Given the description of an element on the screen output the (x, y) to click on. 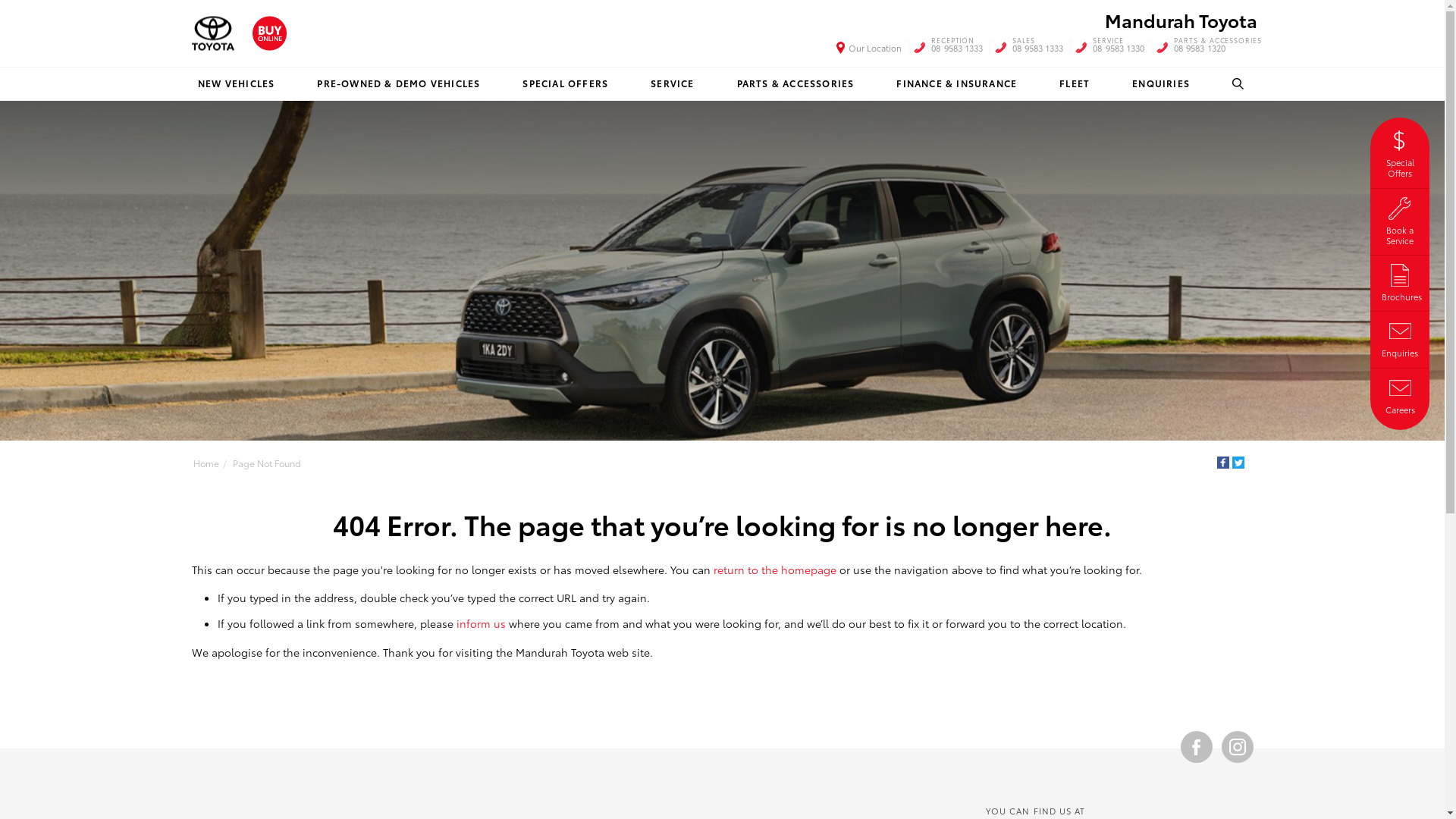
Careers Element type: text (1399, 393)
SEARCH Element type: text (1239, 83)
PARTS & ACCESSORIES
08 9583 1320 Element type: text (1217, 47)
SERVICE Element type: text (672, 83)
Twitter Element type: hover (1237, 462)
Book a Service Element type: text (1399, 219)
PRE-OWNED & DEMO VEHICLES Element type: text (398, 83)
RECEPTION
08 9583 1333 Element type: text (956, 47)
FINANCE & INSURANCE Element type: text (956, 83)
PARTS & ACCESSORIES Element type: text (795, 83)
Mandurah Toyota Element type: text (1180, 20)
NEW VEHICLES Element type: text (234, 83)
inform us Element type: text (480, 622)
SPECIAL OFFERS Element type: text (565, 83)
Buy Online Element type: hover (268, 33)
Brochures Element type: text (1399, 280)
SERVICE
08 9583 1330 Element type: text (1118, 47)
Special Offers Element type: text (1399, 151)
Become a Friend on Facebook Element type: hover (1195, 746)
ENQUIRIES Element type: text (1160, 83)
FLEET Element type: text (1074, 83)
return to the homepage Element type: text (773, 569)
Our Location Element type: text (868, 47)
Mandurah Toyota Element type: hover (212, 33)
Facebook Element type: hover (1222, 462)
SALES
08 9583 1333 Element type: text (1037, 47)
Home Element type: text (205, 462)
Follow Us on Instagram Element type: hover (1236, 746)
Enquiries Element type: text (1399, 336)
